Given the description of an element on the screen output the (x, y) to click on. 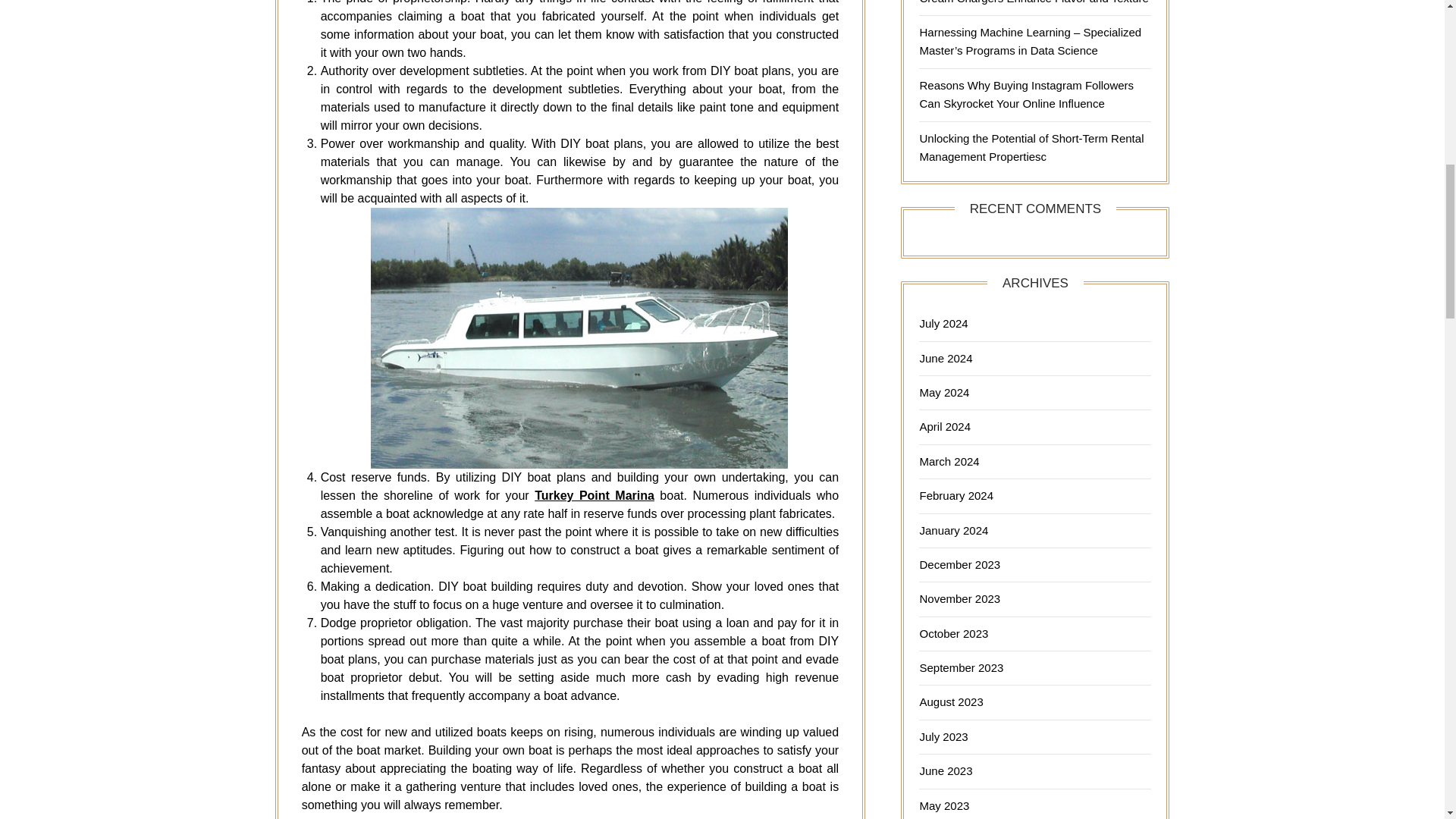
March 2024 (948, 461)
Turkey Point Marina (593, 495)
May 2024 (943, 391)
December 2023 (959, 563)
July 2023 (943, 736)
August 2023 (950, 701)
June 2023 (945, 770)
July 2024 (943, 323)
October 2023 (953, 633)
February 2024 (955, 495)
April 2024 (944, 426)
June 2024 (945, 358)
May 2023 (943, 805)
